Given the description of an element on the screen output the (x, y) to click on. 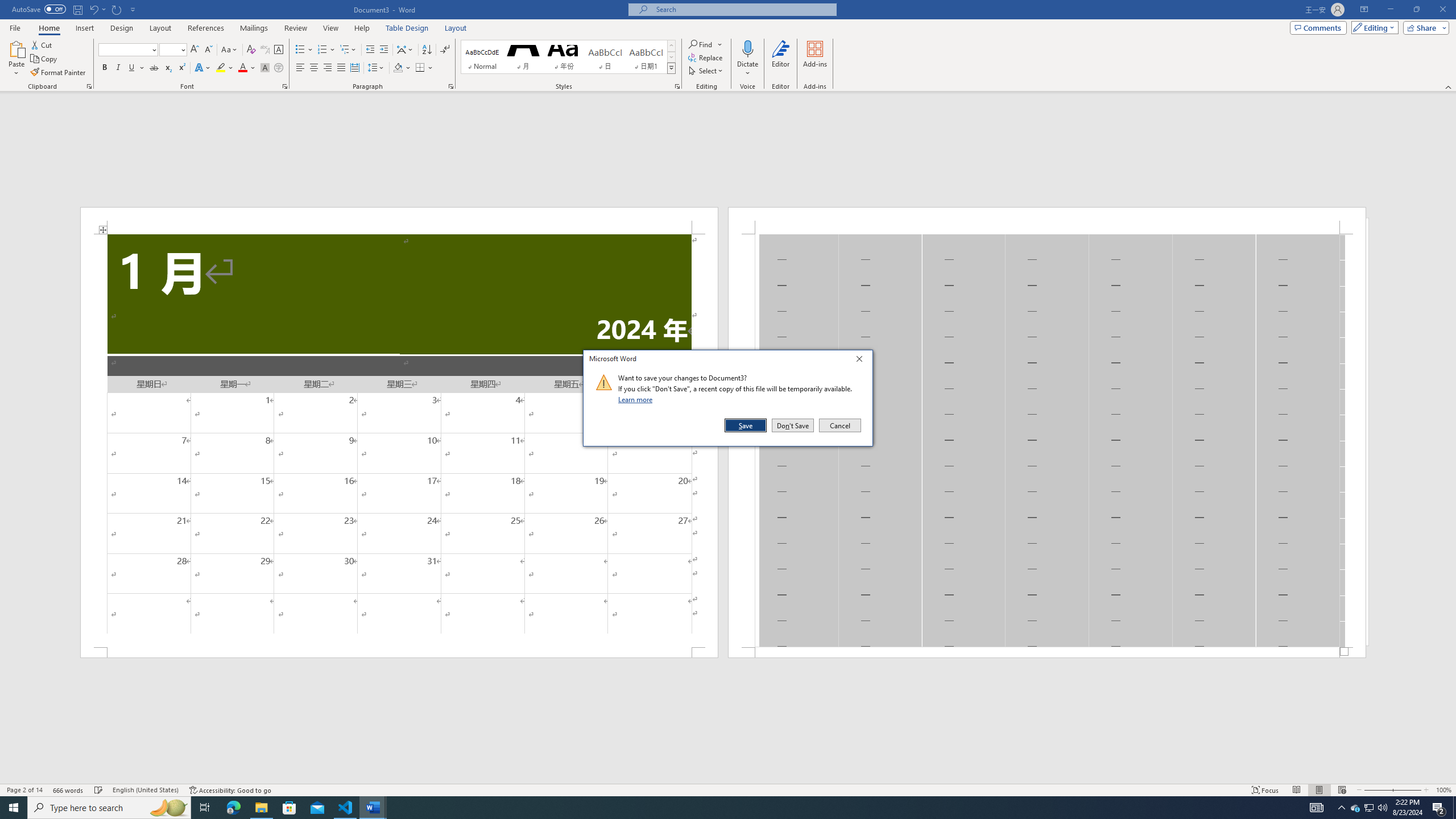
Cancel (839, 425)
Change Case (229, 49)
Font Color (246, 67)
Running applications (717, 807)
User Promoted Notification Area (1368, 807)
Word Count 666 words (68, 790)
